Given the description of an element on the screen output the (x, y) to click on. 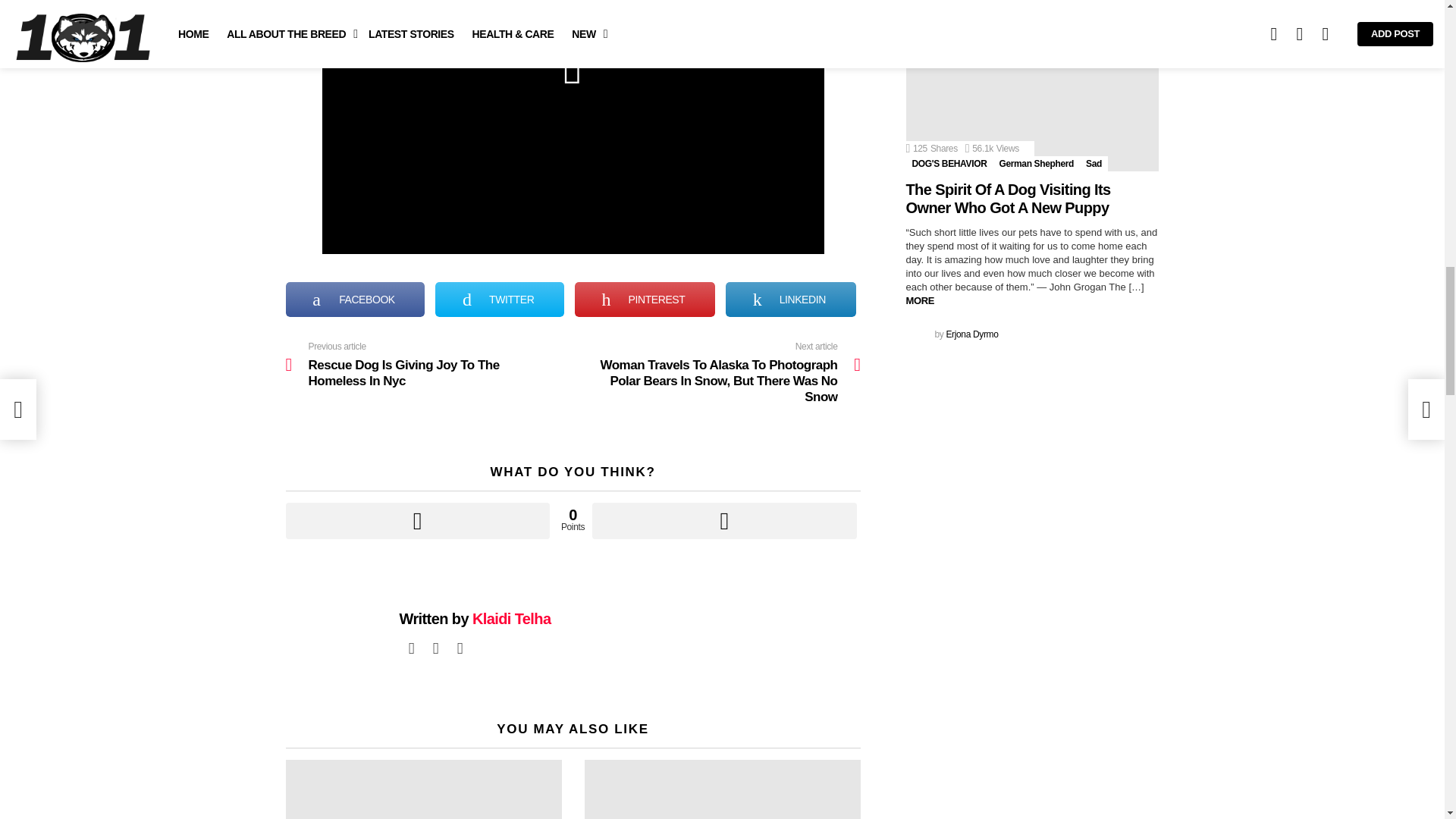
Upvote (416, 520)
Share on Pinterest (644, 298)
Share on LinkedIn (790, 298)
Share on Facebook (355, 298)
Share on Twitter (499, 298)
Downvote (724, 520)
